Given the description of an element on the screen output the (x, y) to click on. 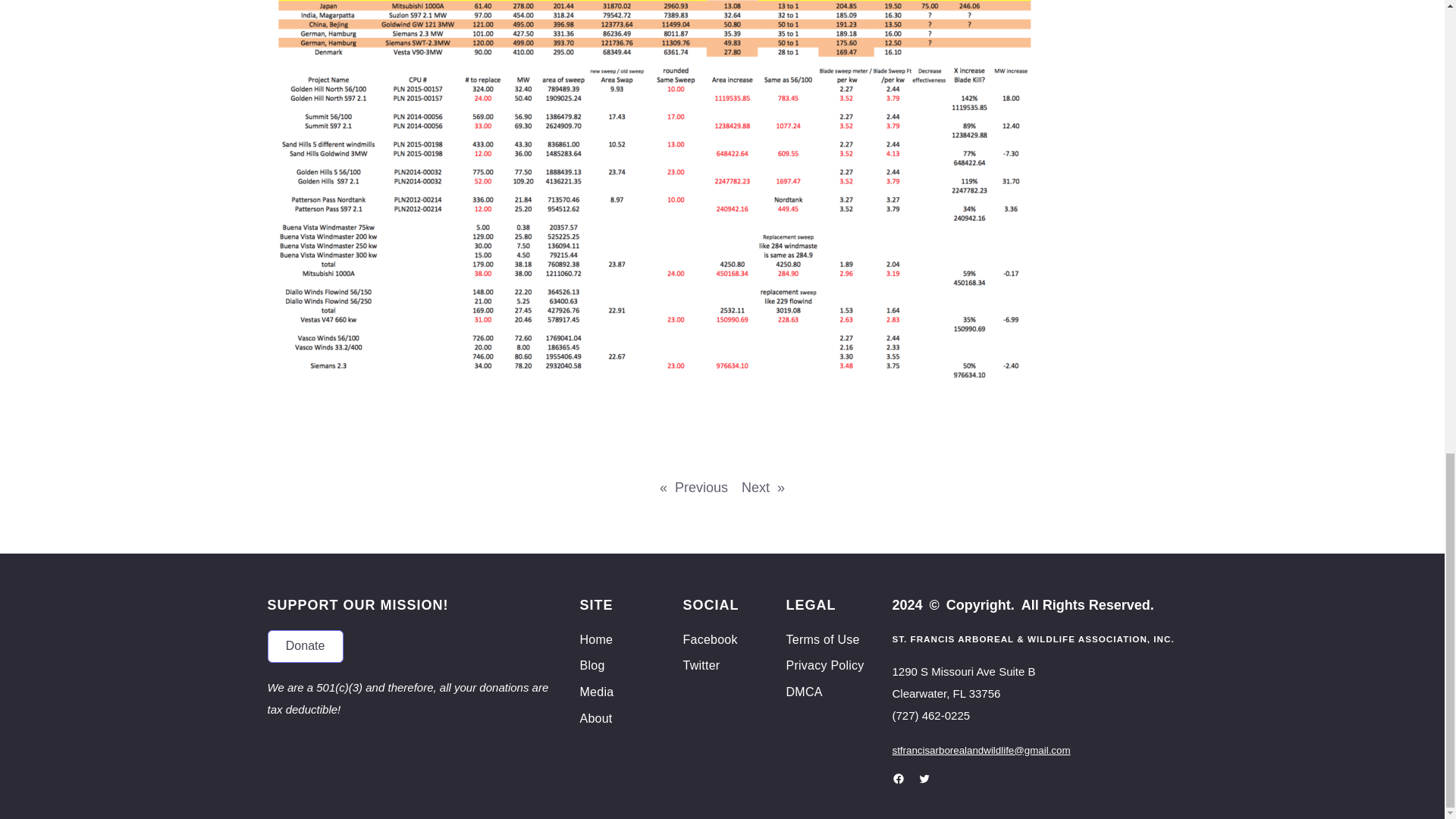
Facebook (897, 778)
Privacy Policy (824, 665)
Twitter (700, 665)
Twitter (923, 778)
Media (595, 691)
About (595, 718)
Donate (304, 645)
DMCA (804, 691)
Next (755, 487)
Home (595, 639)
